Given the description of an element on the screen output the (x, y) to click on. 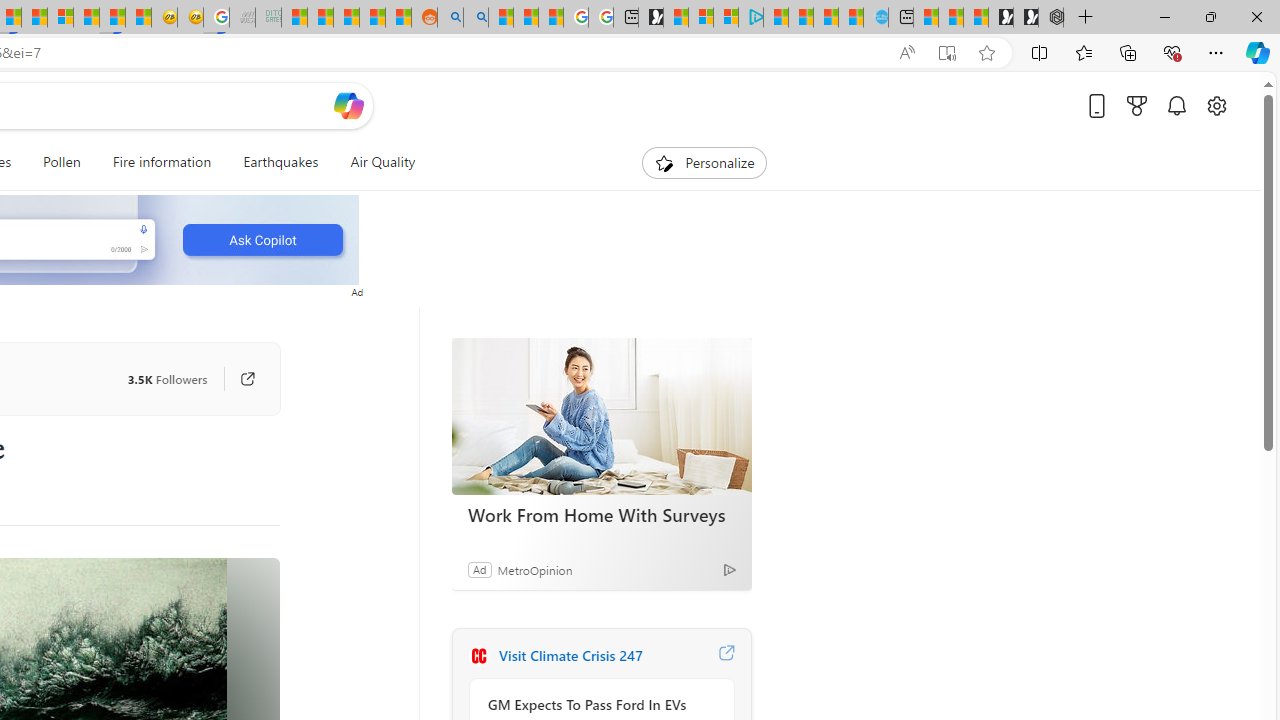
14 Common Myths Debunked By Scientific Facts (34, 17)
Fire information (161, 162)
MetroOpinion (534, 569)
